Given the description of an element on the screen output the (x, y) to click on. 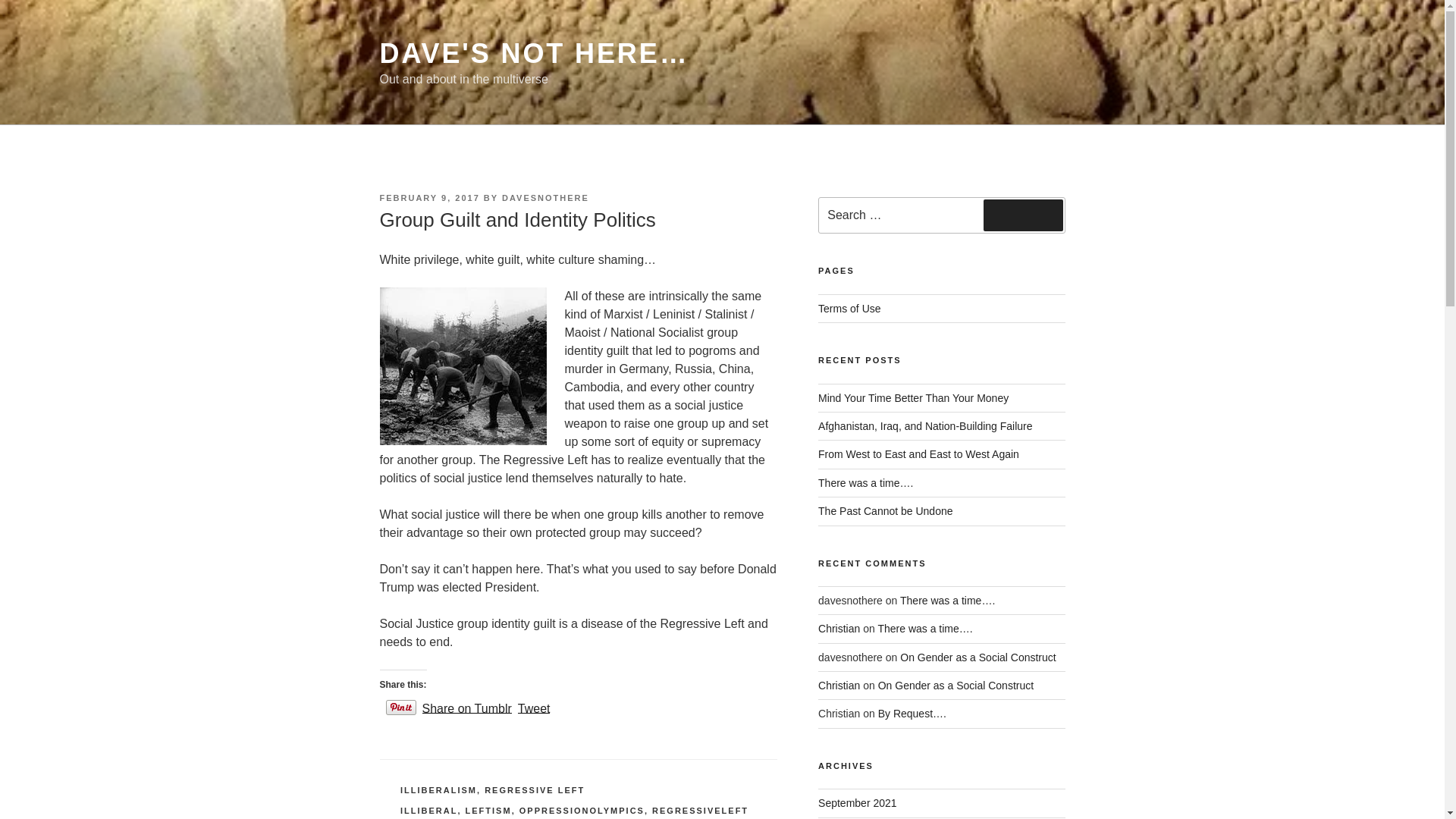
Mind Your Time Better Than Your Money (913, 398)
REGRESSIVE LEFT (534, 789)
On Gender as a Social Construct (977, 657)
The Past Cannot be Undone (885, 510)
Share on Tumblr (466, 706)
Christian (839, 685)
Tweet (534, 706)
Search (1023, 214)
FEBRUARY 9, 2017 (428, 197)
REGRESSIVELEFT (700, 809)
